Given the description of an element on the screen output the (x, y) to click on. 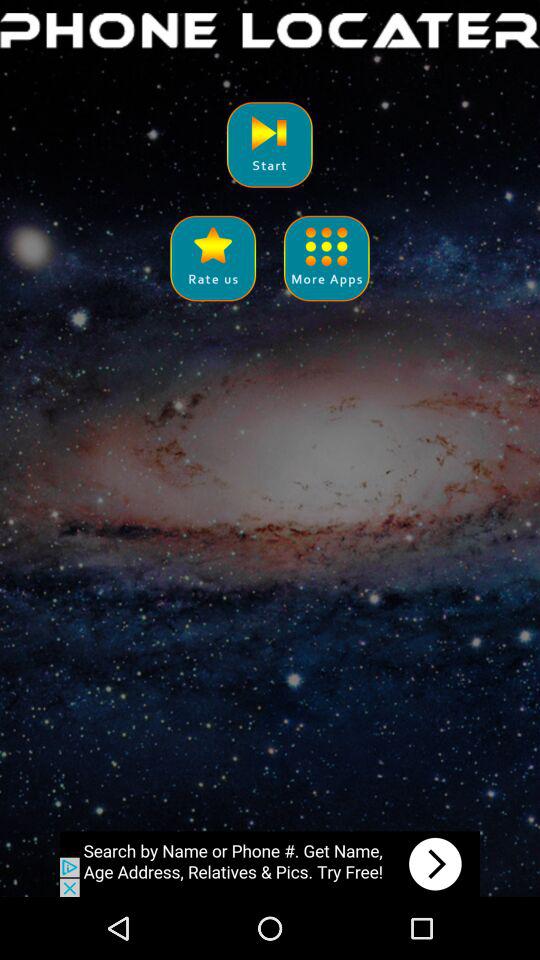
start program (269, 144)
